Given the description of an element on the screen output the (x, y) to click on. 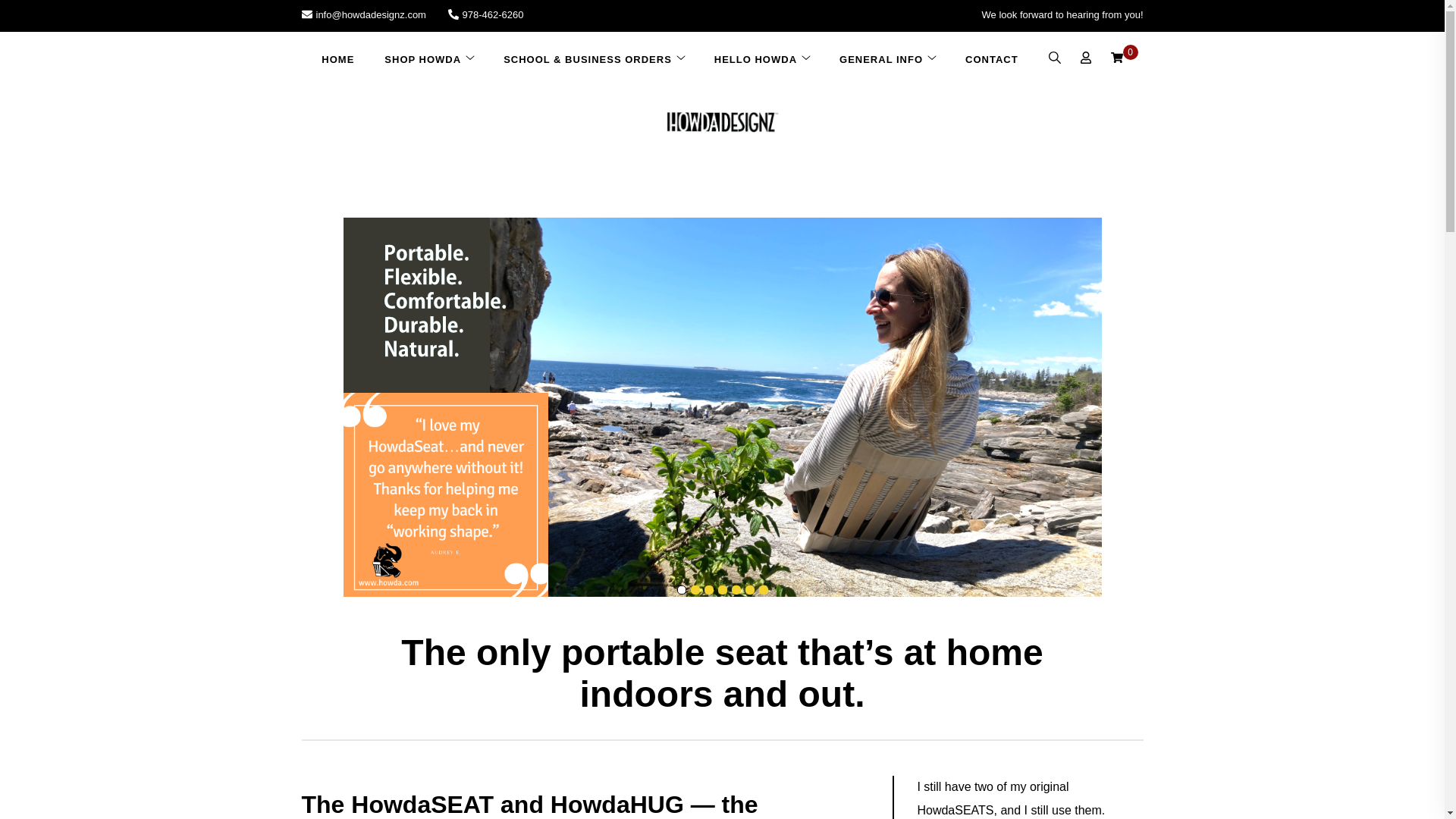
978-462-6260 (486, 14)
SHOP HOWDA (422, 59)
HELLO HOWDA (755, 59)
CONTACT (991, 59)
View your shopping cart (1116, 59)
GENERAL INFO (880, 59)
